Given the description of an element on the screen output the (x, y) to click on. 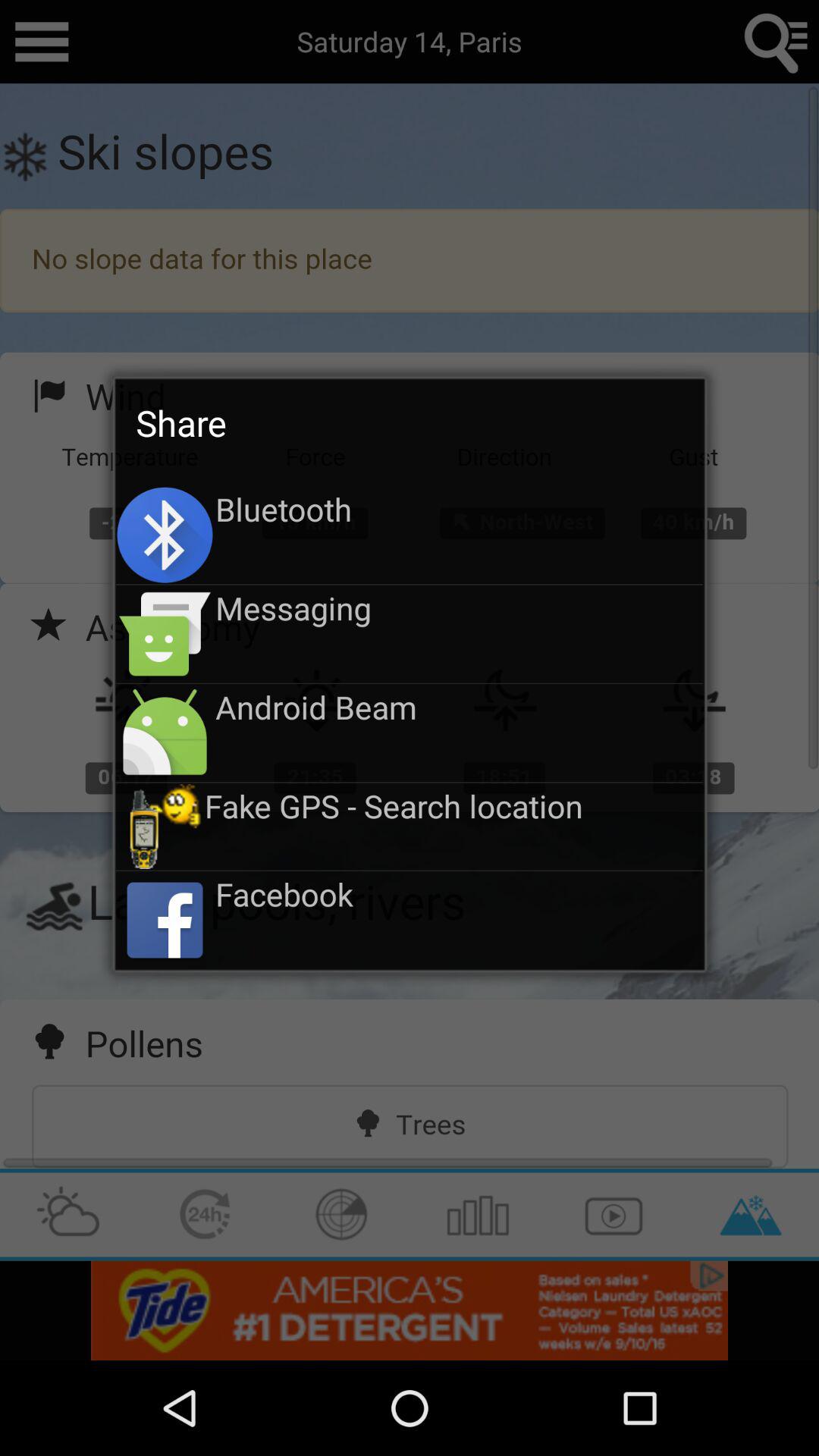
turn on the item below the fake gps search app (458, 893)
